Given the description of an element on the screen output the (x, y) to click on. 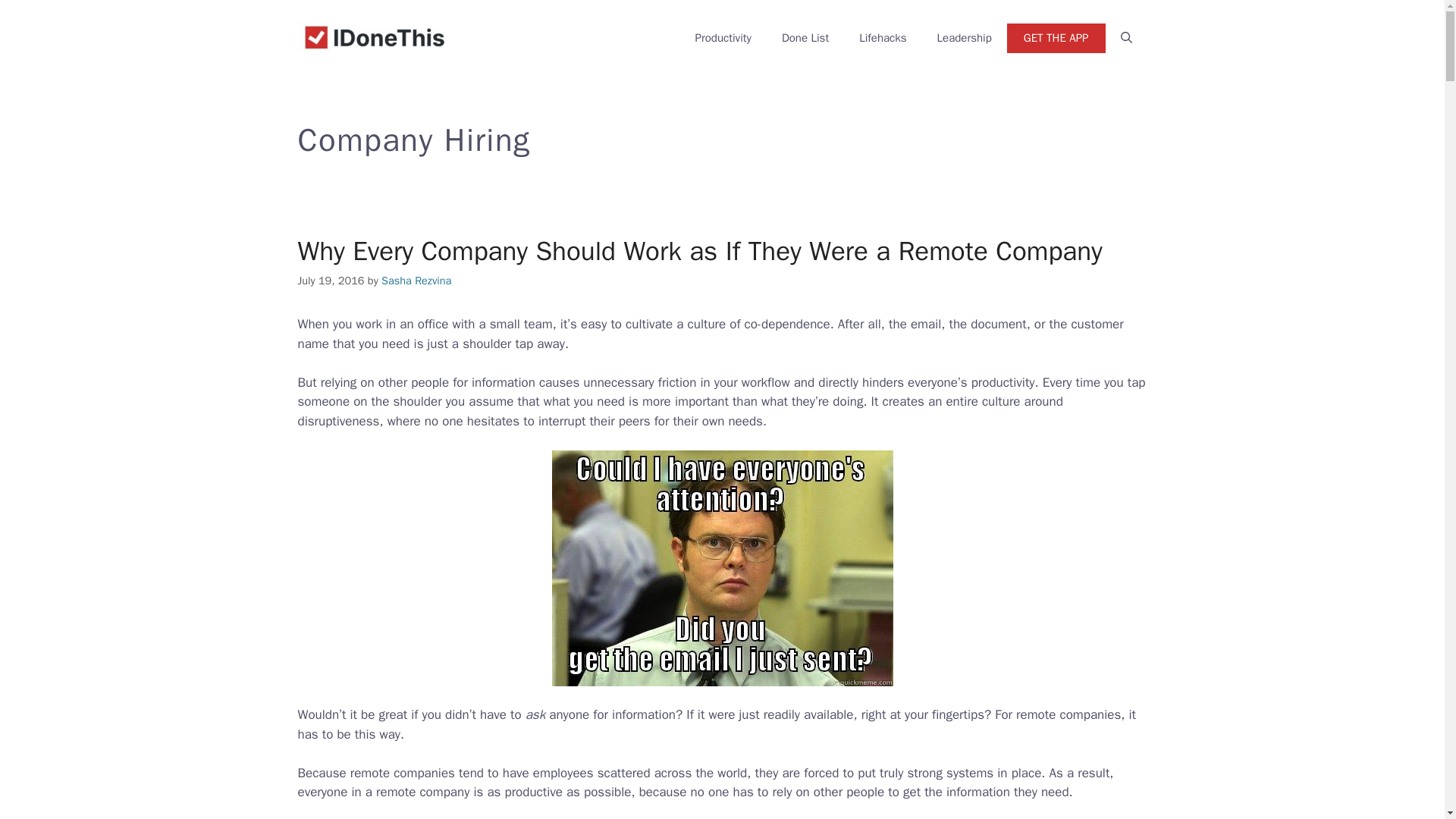
View all posts by Sasha Rezvina (416, 280)
Leadership (964, 37)
Sasha Rezvina (416, 280)
Lifehacks (882, 37)
Done List (805, 37)
GET THE APP (1056, 37)
Productivity (723, 37)
